Given the description of an element on the screen output the (x, y) to click on. 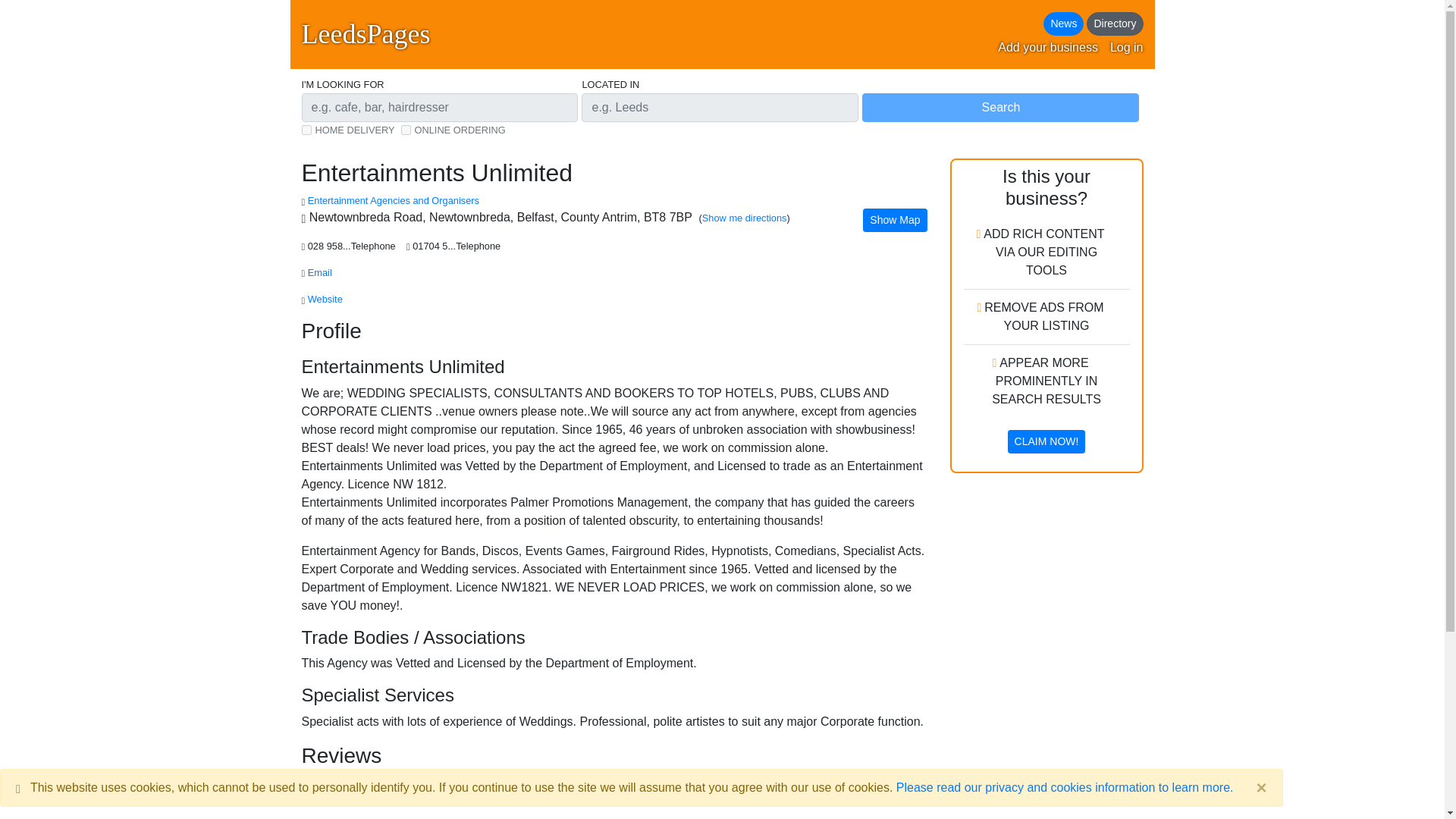
028 958...Telephone (352, 245)
click to show number (457, 245)
Directory (1114, 24)
Website (326, 298)
click to show number (352, 245)
Search (999, 107)
Add your business (1047, 47)
CLAIM NOW! (1046, 441)
01704 5...Telephone (457, 245)
Email (319, 272)
show me more (393, 200)
Entertainment Agencies and Organisers (393, 200)
Log in (1125, 47)
News (1063, 24)
on (306, 130)
